Given the description of an element on the screen output the (x, y) to click on. 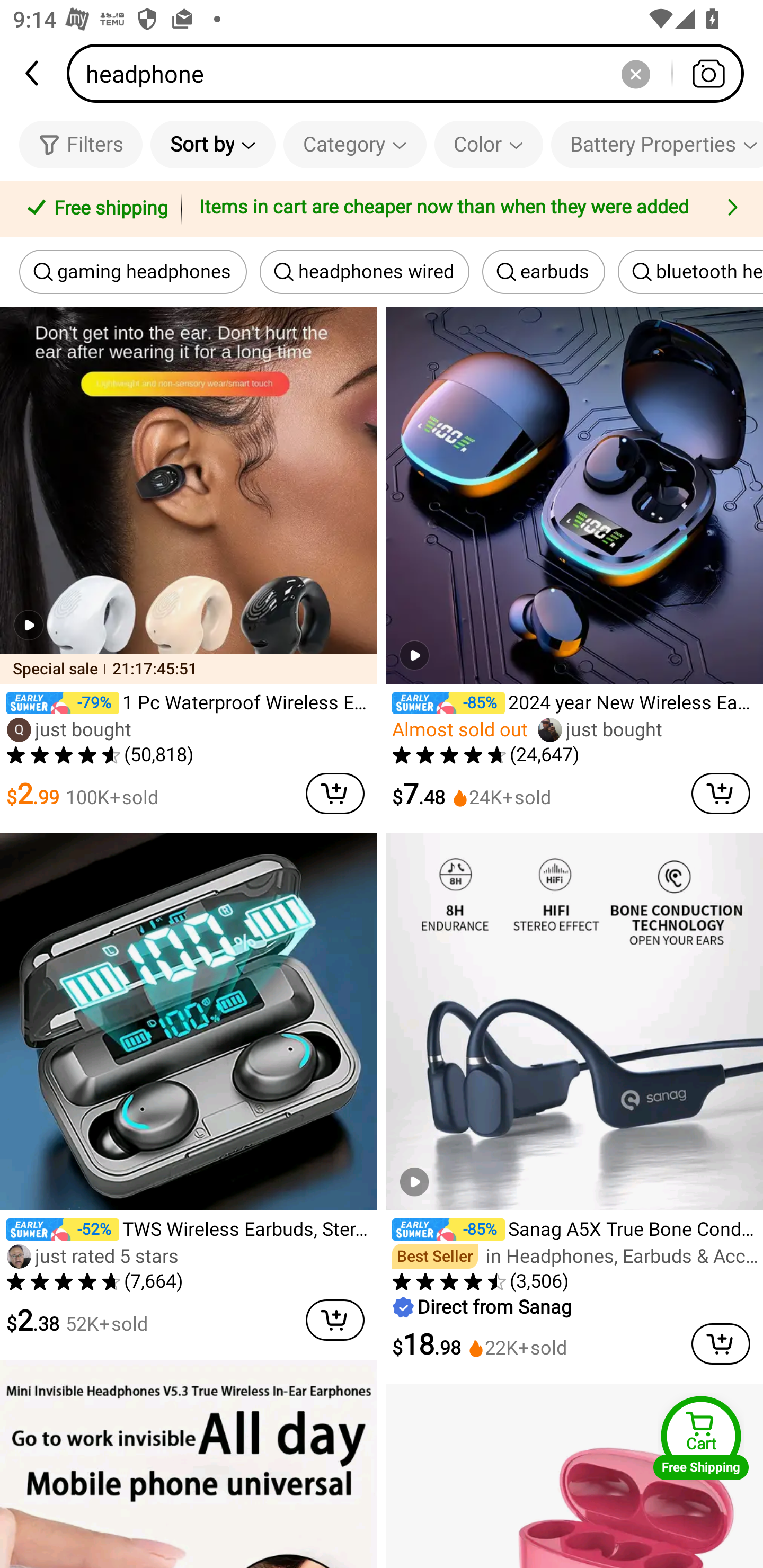
back (33, 72)
headphone (411, 73)
Delete search history (635, 73)
Search by photo (708, 73)
Filters (80, 143)
Sort by (212, 143)
Category (354, 143)
Color (488, 143)
Battery Properties (656, 143)
 Free shipping (93, 208)
gaming headphones (133, 271)
headphones wired (364, 271)
earbuds (543, 271)
bluetooth headphones (690, 271)
cart delete (334, 793)
cart delete (720, 793)
cart delete (334, 1319)
cart delete (720, 1343)
Cart Free Shipping Cart (701, 1437)
